Given the description of an element on the screen output the (x, y) to click on. 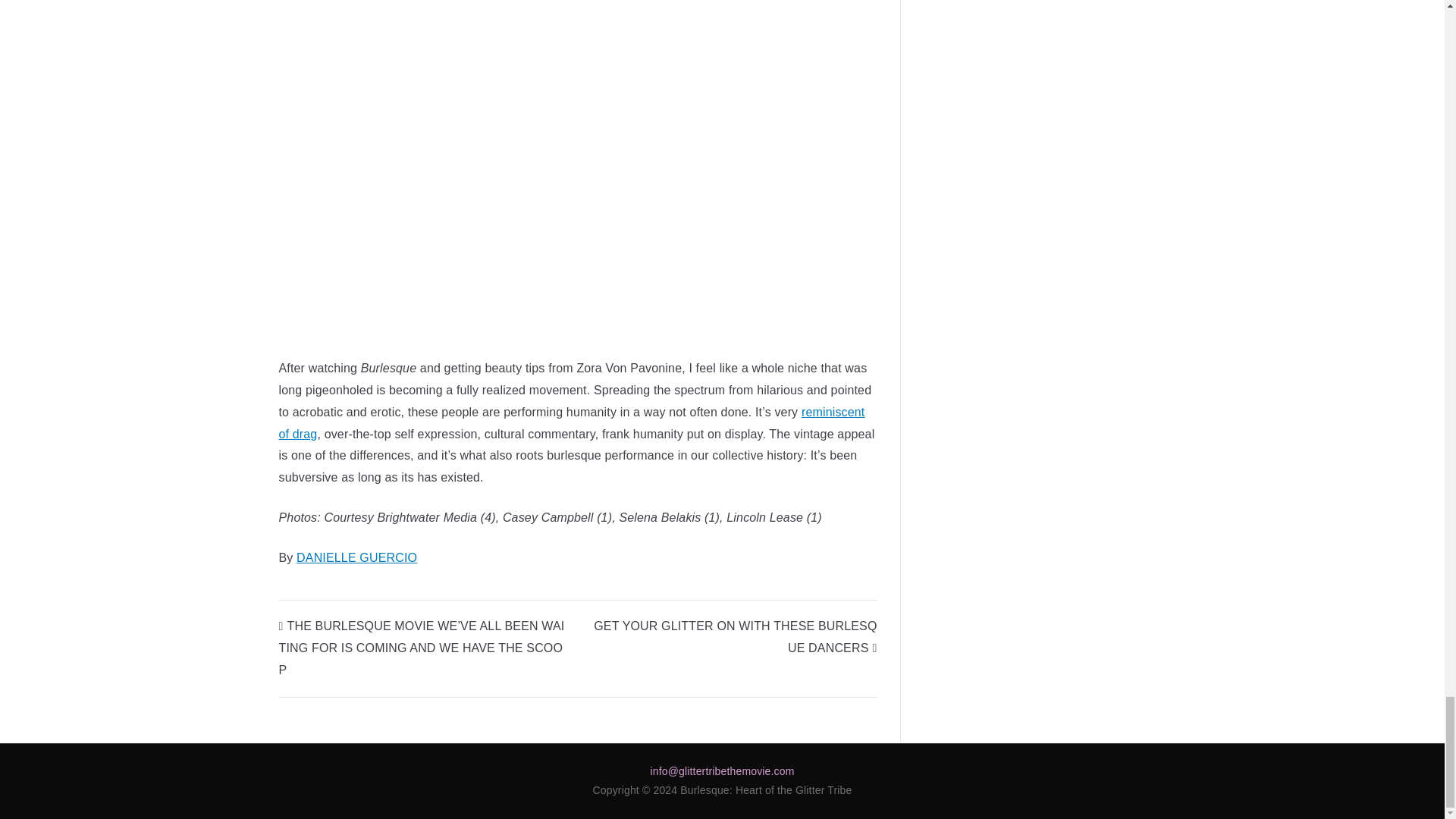
GET YOUR GLITTER ON WITH THESE BURLESQUE DANCERS (735, 636)
DANIELLE GUERCIO (356, 557)
reminiscent of drag (571, 422)
